Given the description of an element on the screen output the (x, y) to click on. 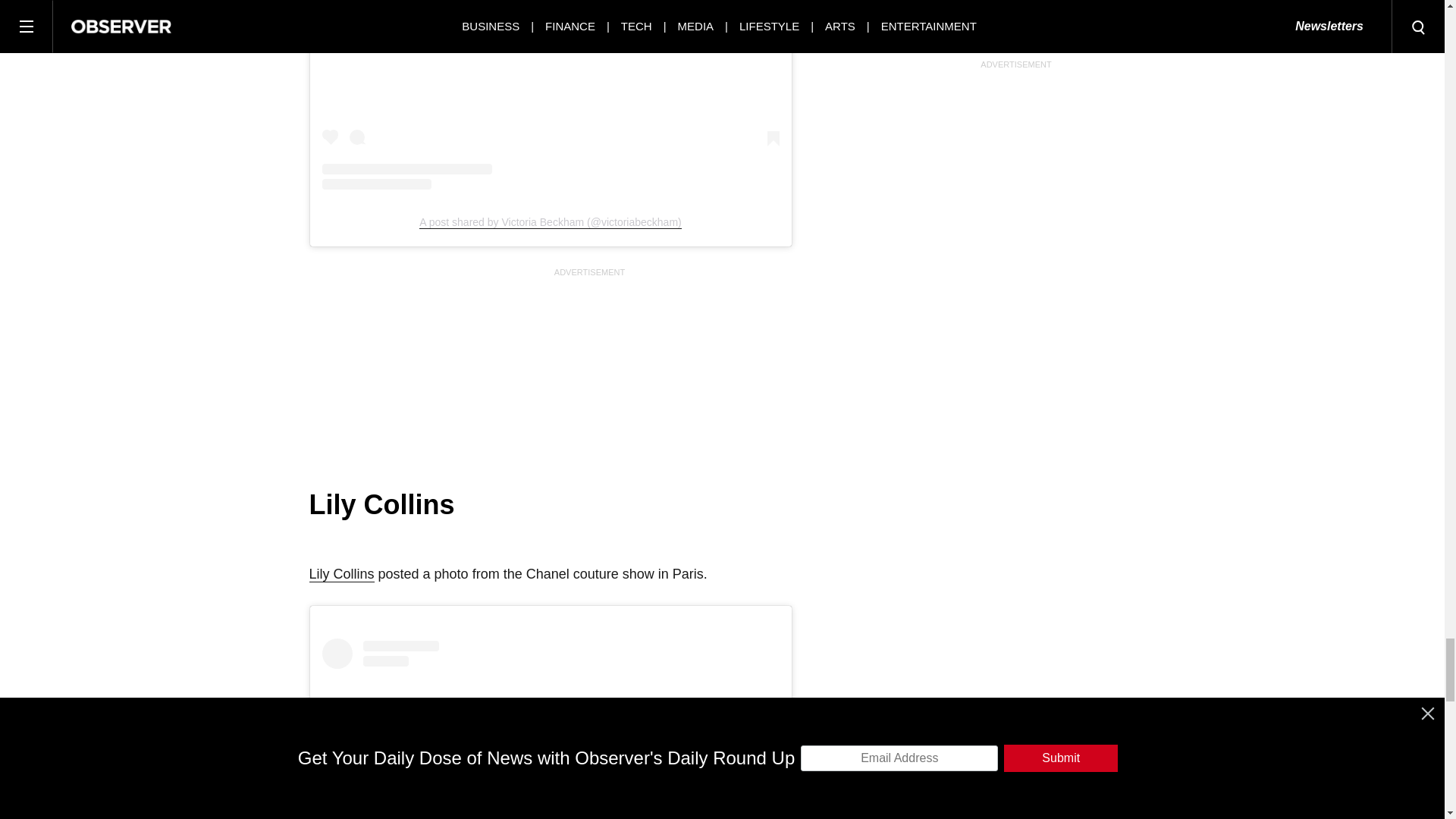
Lily Collins (341, 574)
